Given the description of an element on the screen output the (x, y) to click on. 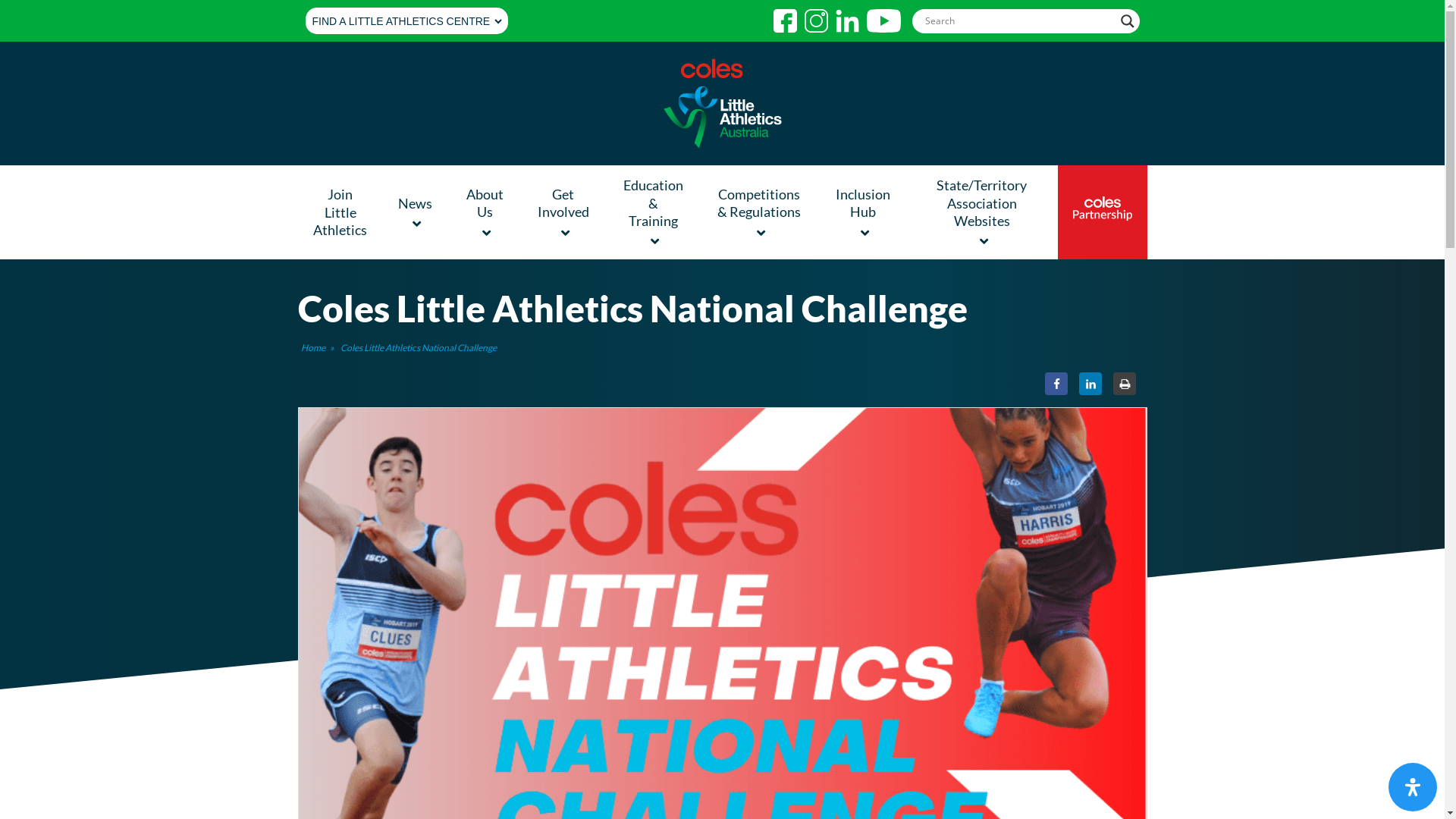
Home Element type: text (312, 347)
Education & Training Element type: text (655, 212)
Inclusion Hub Element type: text (864, 212)
Join Little Athletics Element type: text (339, 212)
Share on Print Element type: hover (1124, 383)
Accessibility Element type: hover (1412, 786)
News Element type: text (416, 212)
Share on Facebook Element type: hover (1055, 383)
About Us Element type: text (486, 212)
Get Involved Element type: text (565, 212)
Share on LinkedIn Element type: hover (1089, 383)
